Given the description of an element on the screen output the (x, y) to click on. 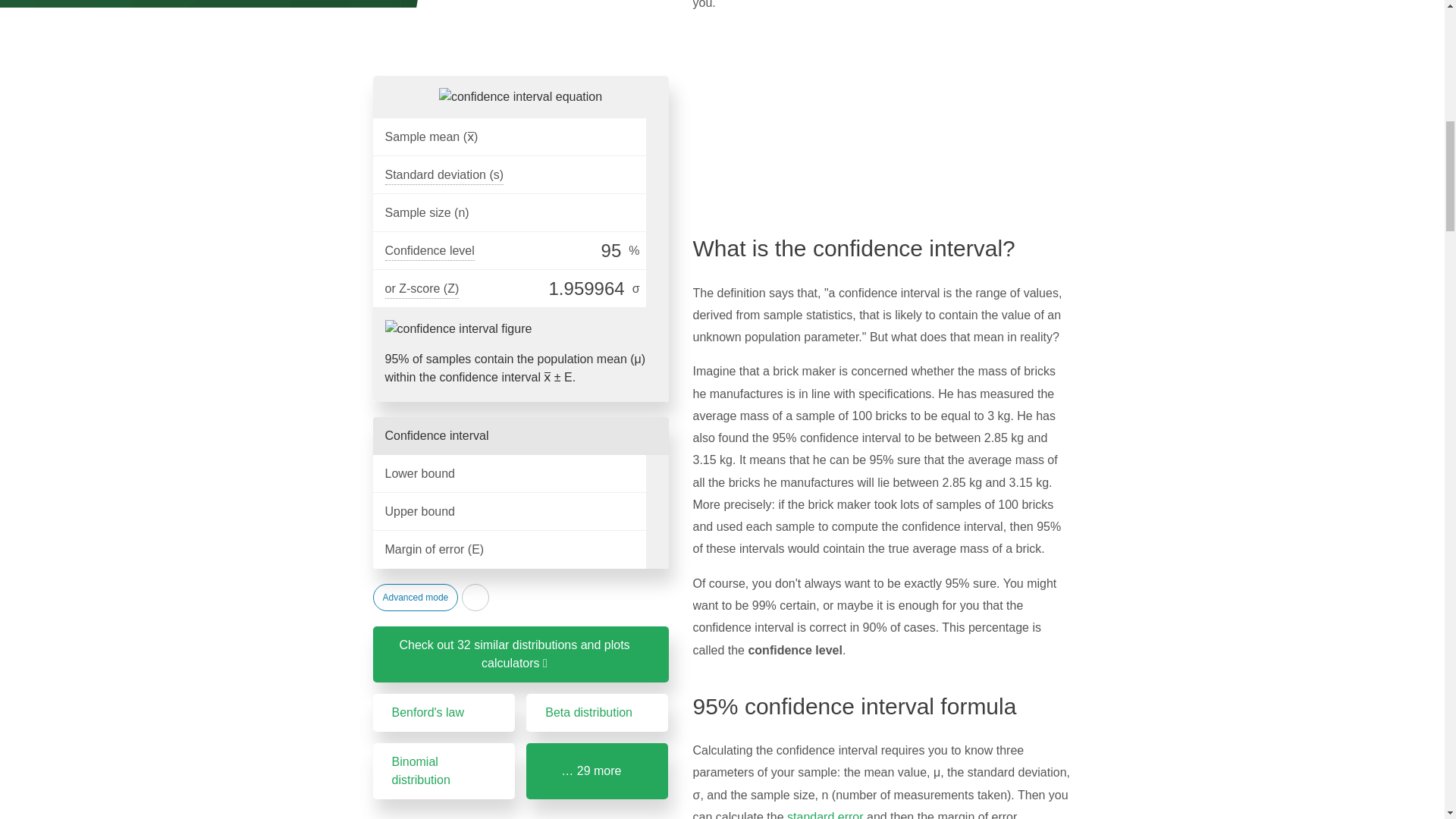
standard error (825, 814)
